Given the description of an element on the screen output the (x, y) to click on. 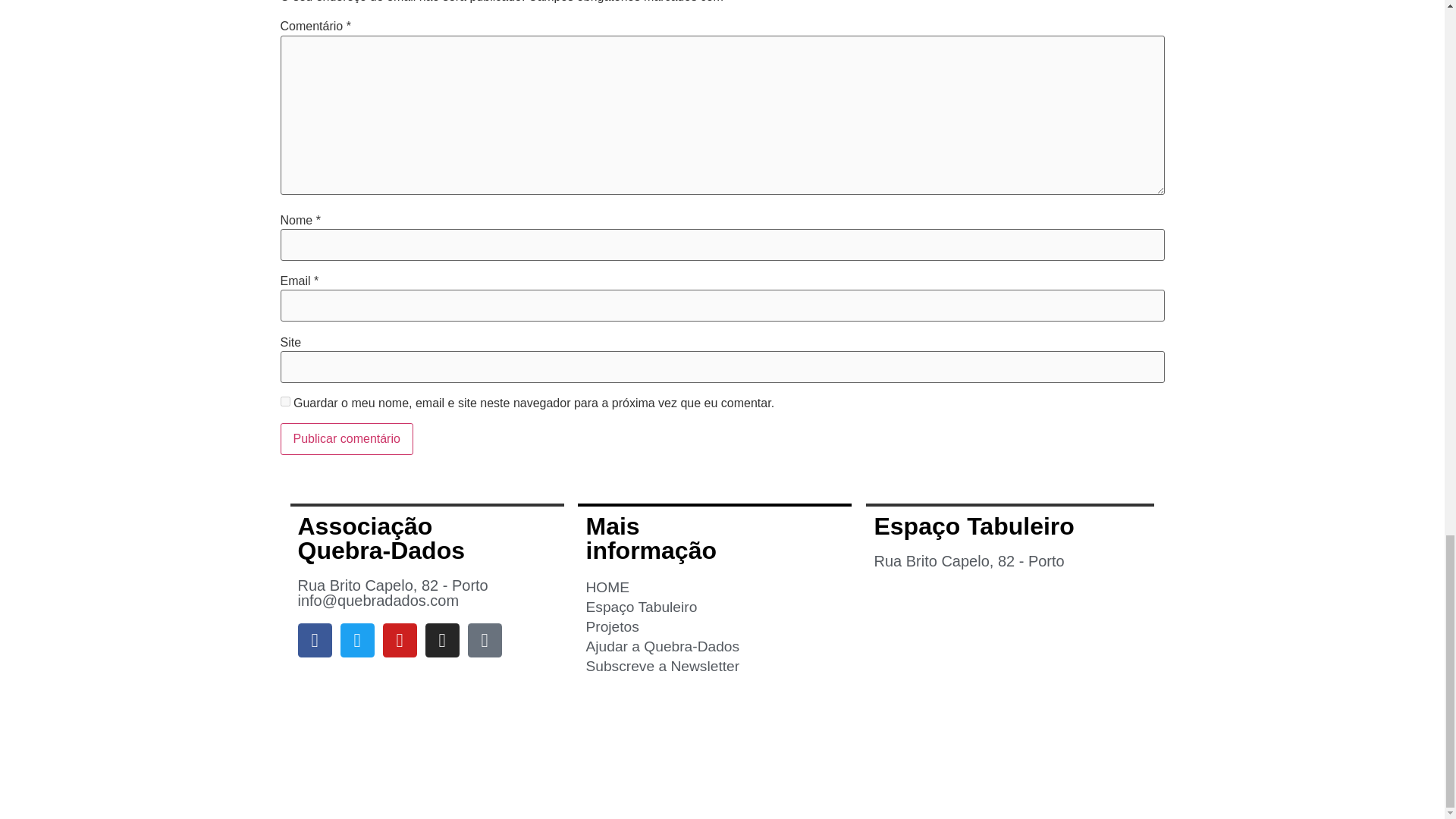
HOME (714, 587)
Rua Brito Capelo 82, Porto (1010, 697)
yes (285, 401)
